Given the description of an element on the screen output the (x, y) to click on. 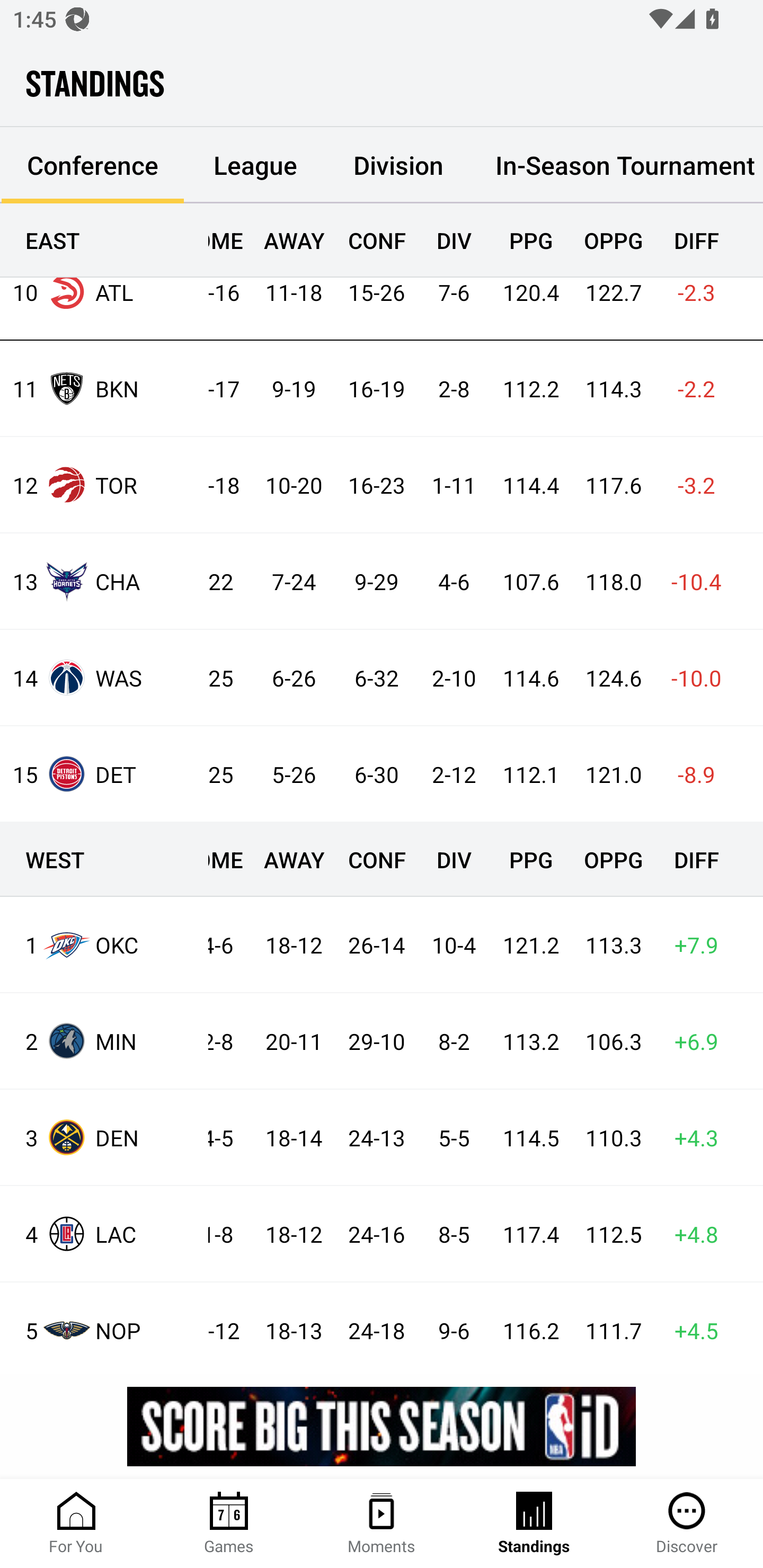
League (254, 165)
Division (398, 165)
In-Season Tournament (616, 165)
10 ATL (104, 292)
11 BKN (104, 387)
12 TOR (104, 485)
13 CHA (104, 580)
14 WAS (104, 677)
15 DET (104, 773)
1 OKC (104, 944)
2 MIN (104, 1040)
3 DEN (104, 1137)
4 LAC (104, 1233)
5 NOP (104, 1327)
For You (76, 1523)
Games (228, 1523)
Moments (381, 1523)
Discover (686, 1523)
